Given the description of an element on the screen output the (x, y) to click on. 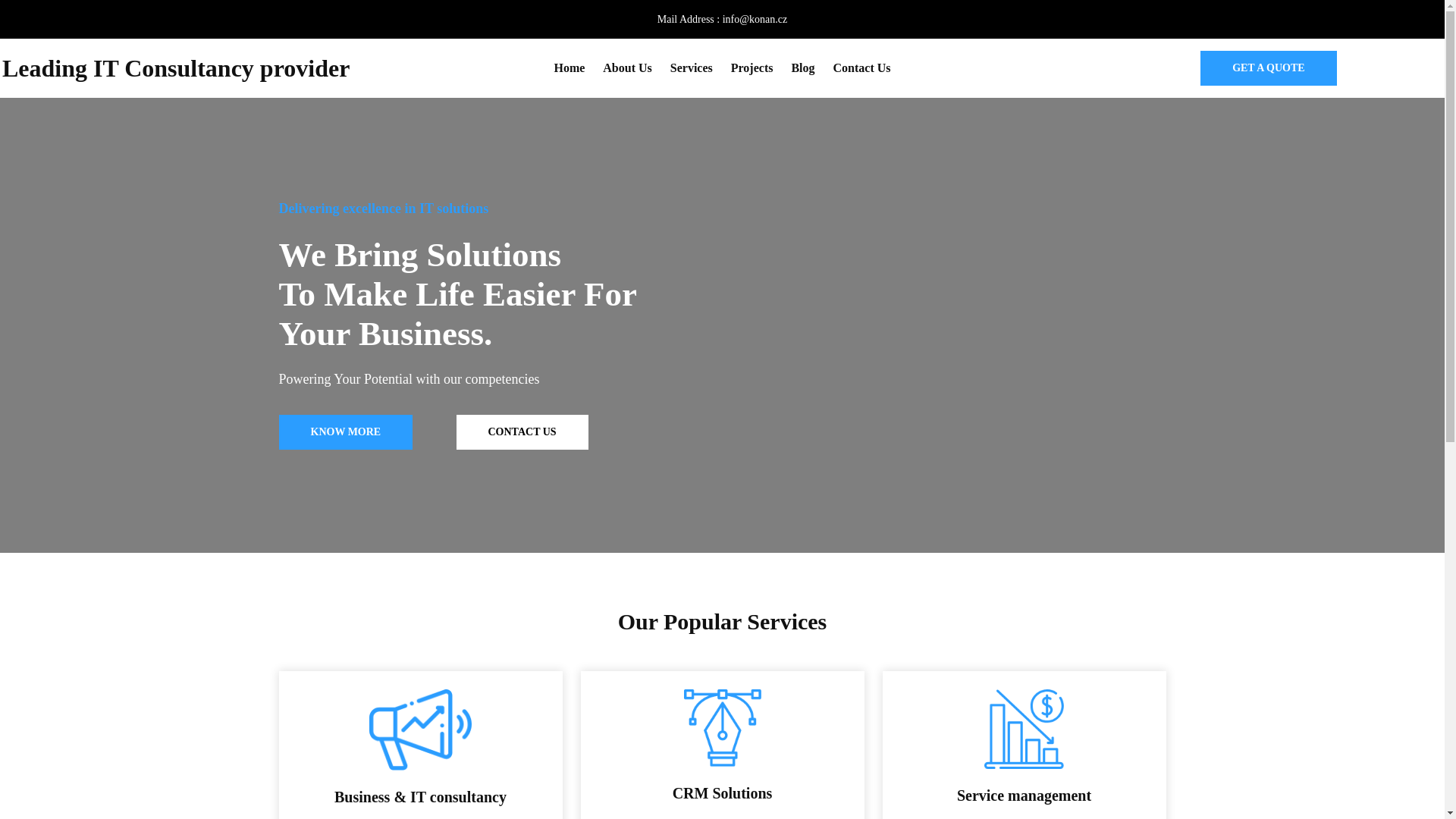
Services (691, 68)
Contact Us (861, 68)
Blog (801, 68)
Projects (751, 68)
GET A QUOTE (1267, 67)
About Us (626, 68)
CONTACT US (522, 431)
KNOW MORE (346, 431)
Leading IT Consultancy provider (175, 67)
Home (569, 68)
